Given the description of an element on the screen output the (x, y) to click on. 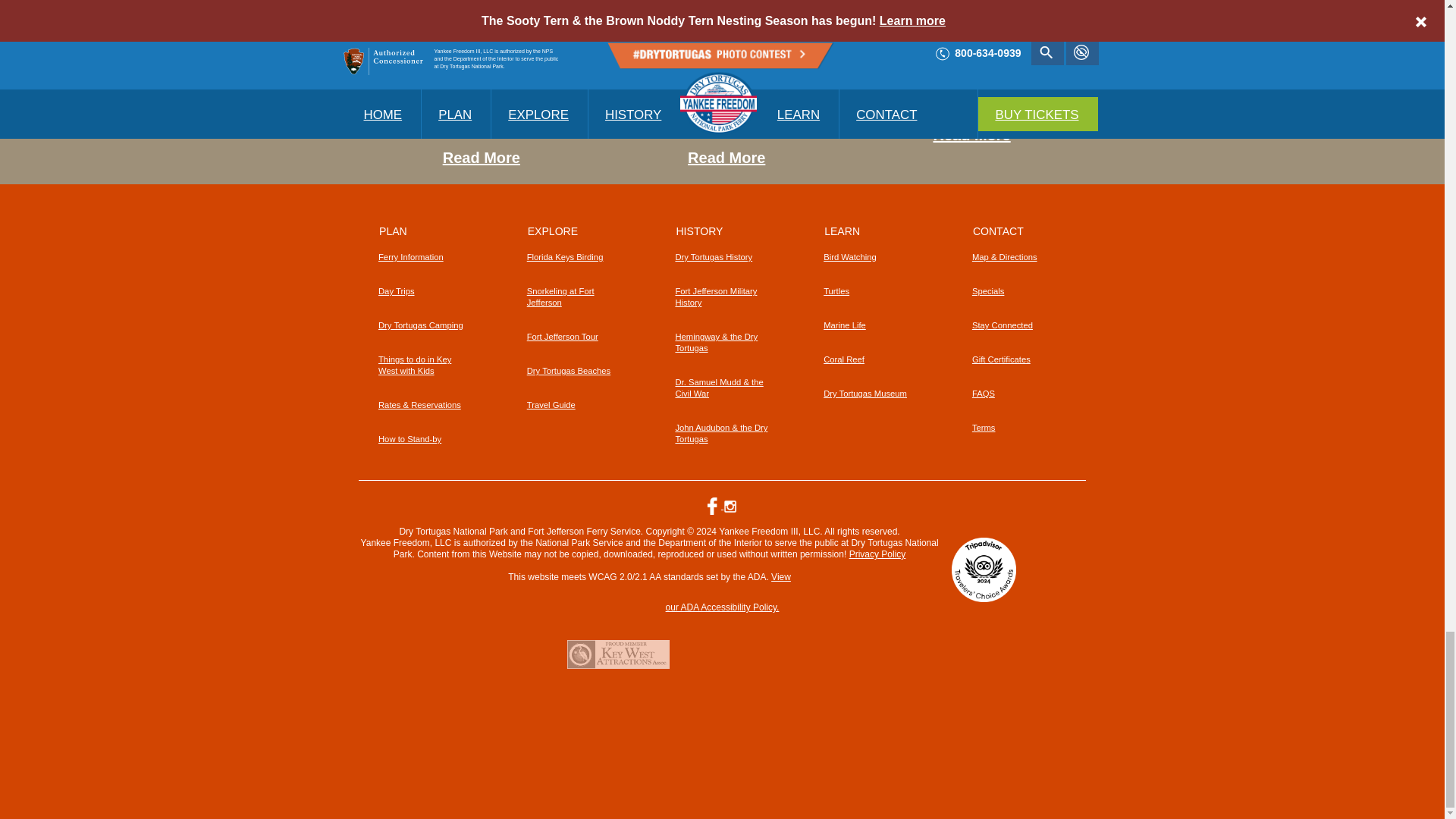
Best Florida Keys Snorkeling Spots (480, 115)
Best Florida Keys Snorkeling Spots (497, 30)
Dry Tortugas Facts (971, 104)
Best Florida Keys Snorkeling Spots (480, 157)
Dry Tortugas Facts (988, 30)
Dry Tortugas Facts (971, 134)
